Given the description of an element on the screen output the (x, y) to click on. 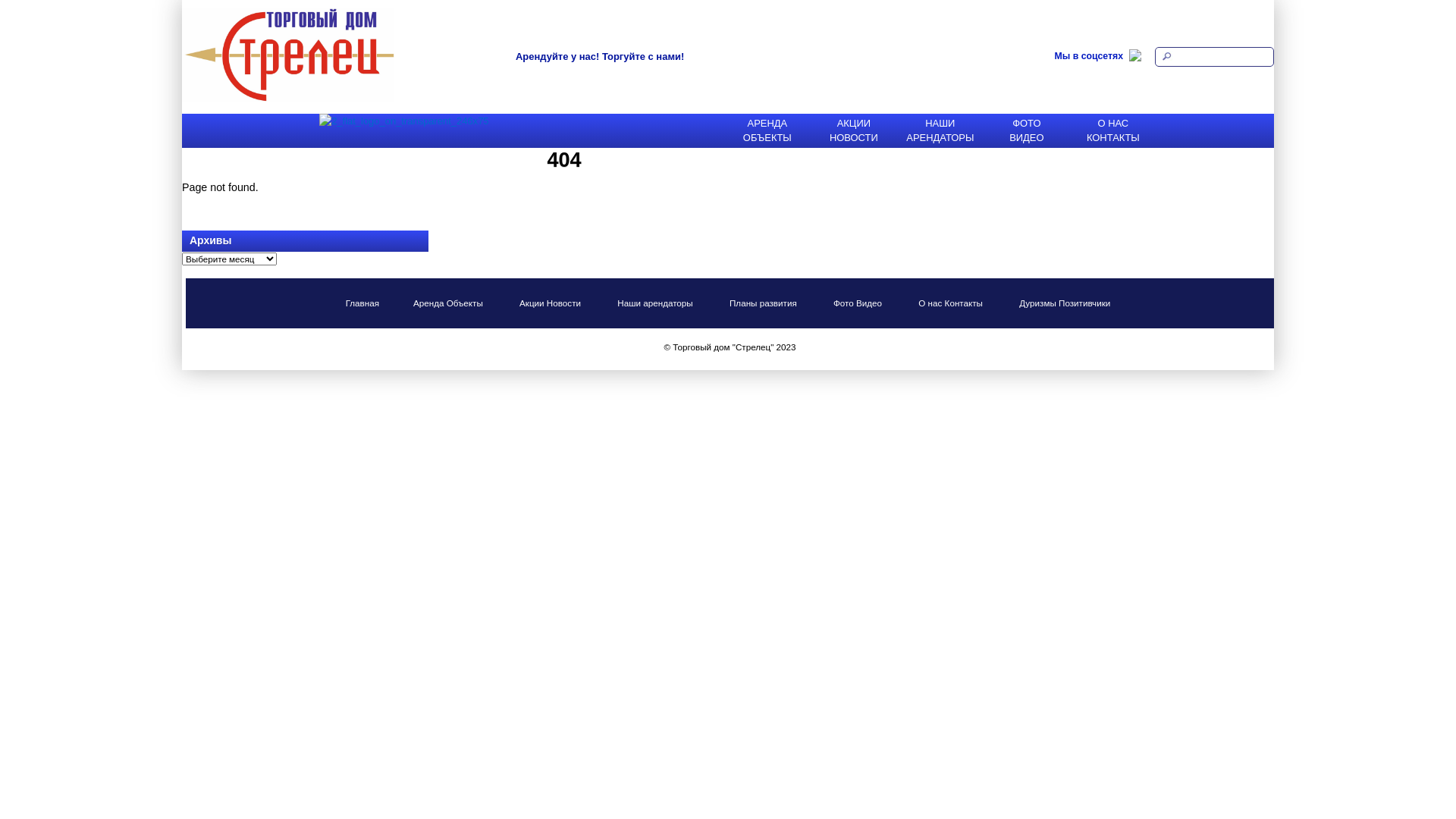
instagram Element type: hover (1138, 58)
Search Element type: hover (1214, 56)
